Given the description of an element on the screen output the (x, y) to click on. 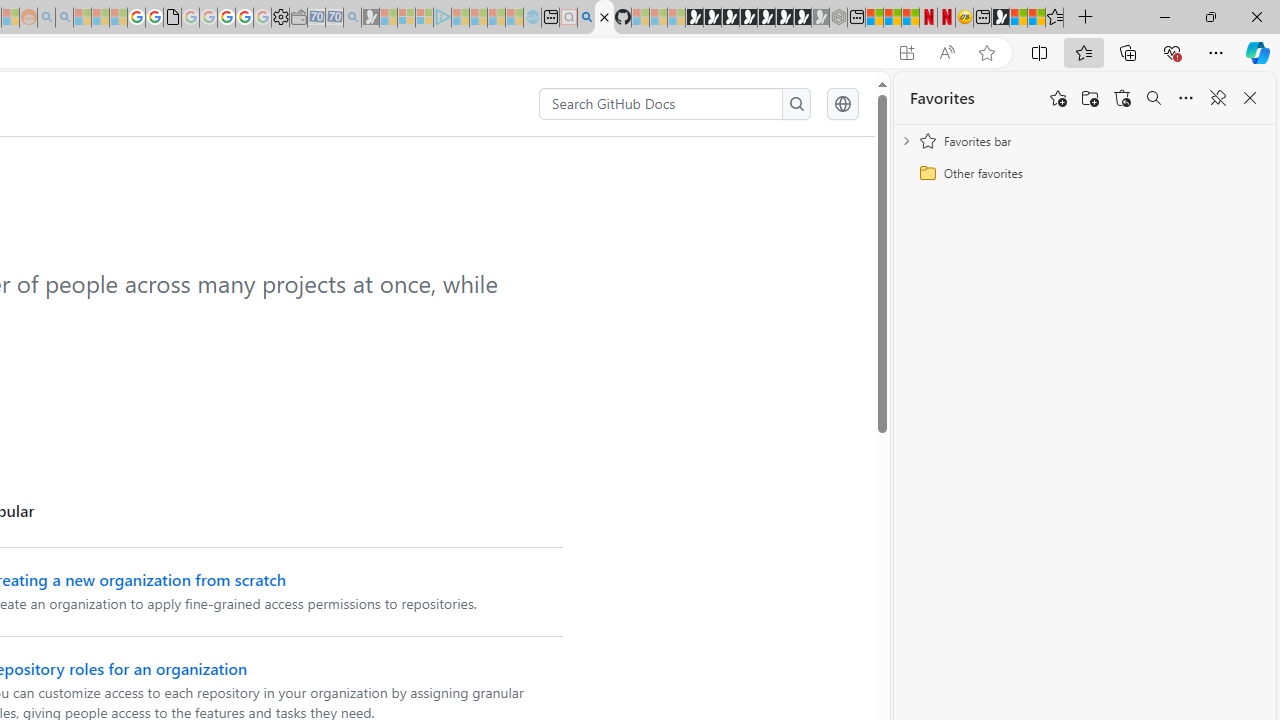
Select language: current language is English (842, 103)
google_privacy_policy_zh-CN.pdf (171, 17)
Organizations and teams documentation - GitHub Docs (604, 17)
Add this page to favorites (1058, 98)
Play Cave FRVR in your browser | Games from Microsoft Start (729, 17)
